Given the description of an element on the screen output the (x, y) to click on. 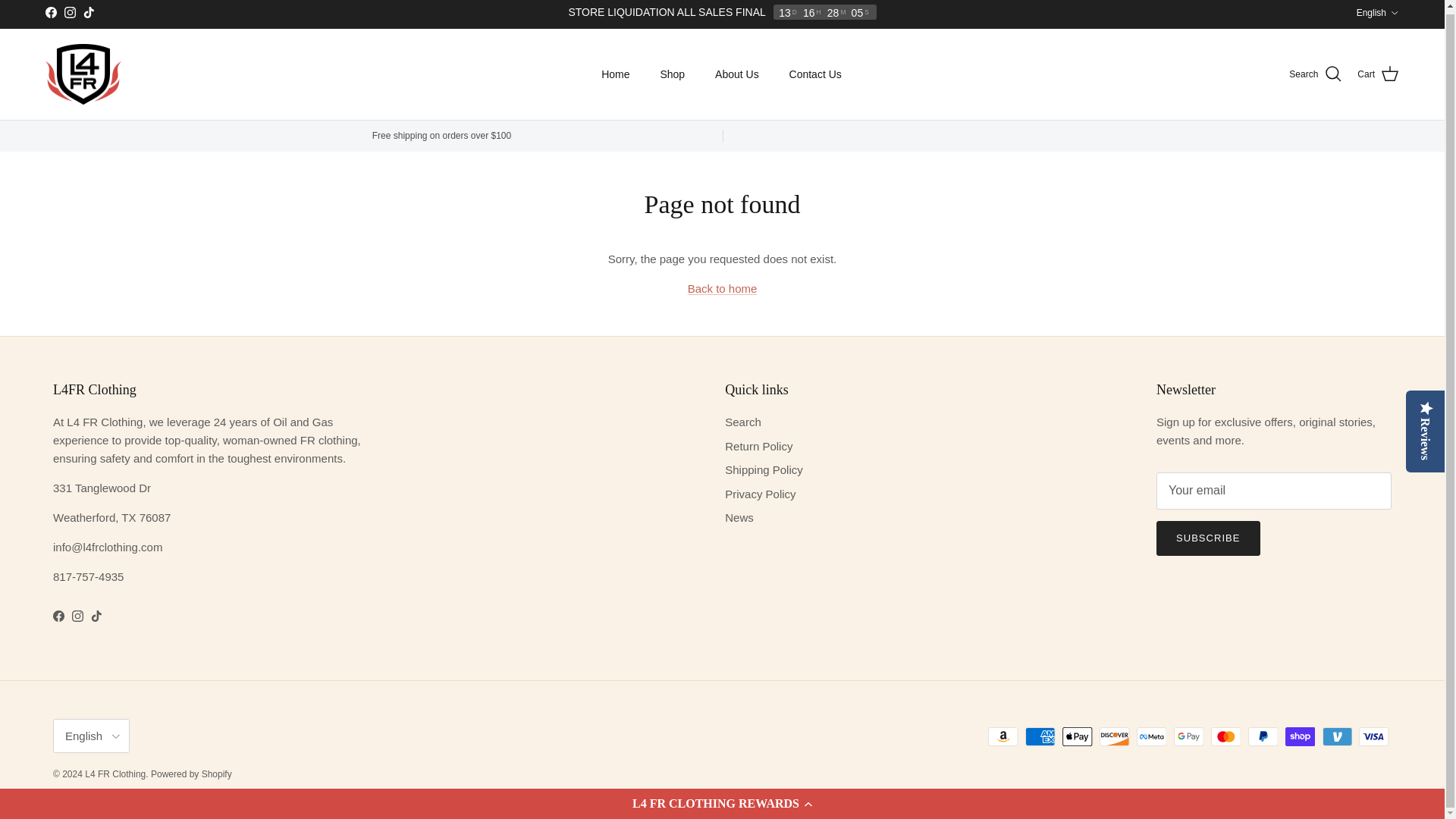
L4 FR Clothing on Instagram (69, 12)
PayPal (1262, 736)
Mastercard (1225, 736)
TikTok (88, 12)
About Us (737, 74)
Shop (672, 74)
L4 FR Clothing on TikTok (88, 12)
American Express (1040, 736)
L4 FR Clothing on Instagram (76, 615)
L4 FR Clothing on Facebook (58, 615)
L4 FR Clothing (82, 74)
L4 FR Clothing on TikTok (95, 615)
Instagram (69, 12)
Contact Us (816, 74)
Cart (1377, 74)
